Given the description of an element on the screen output the (x, y) to click on. 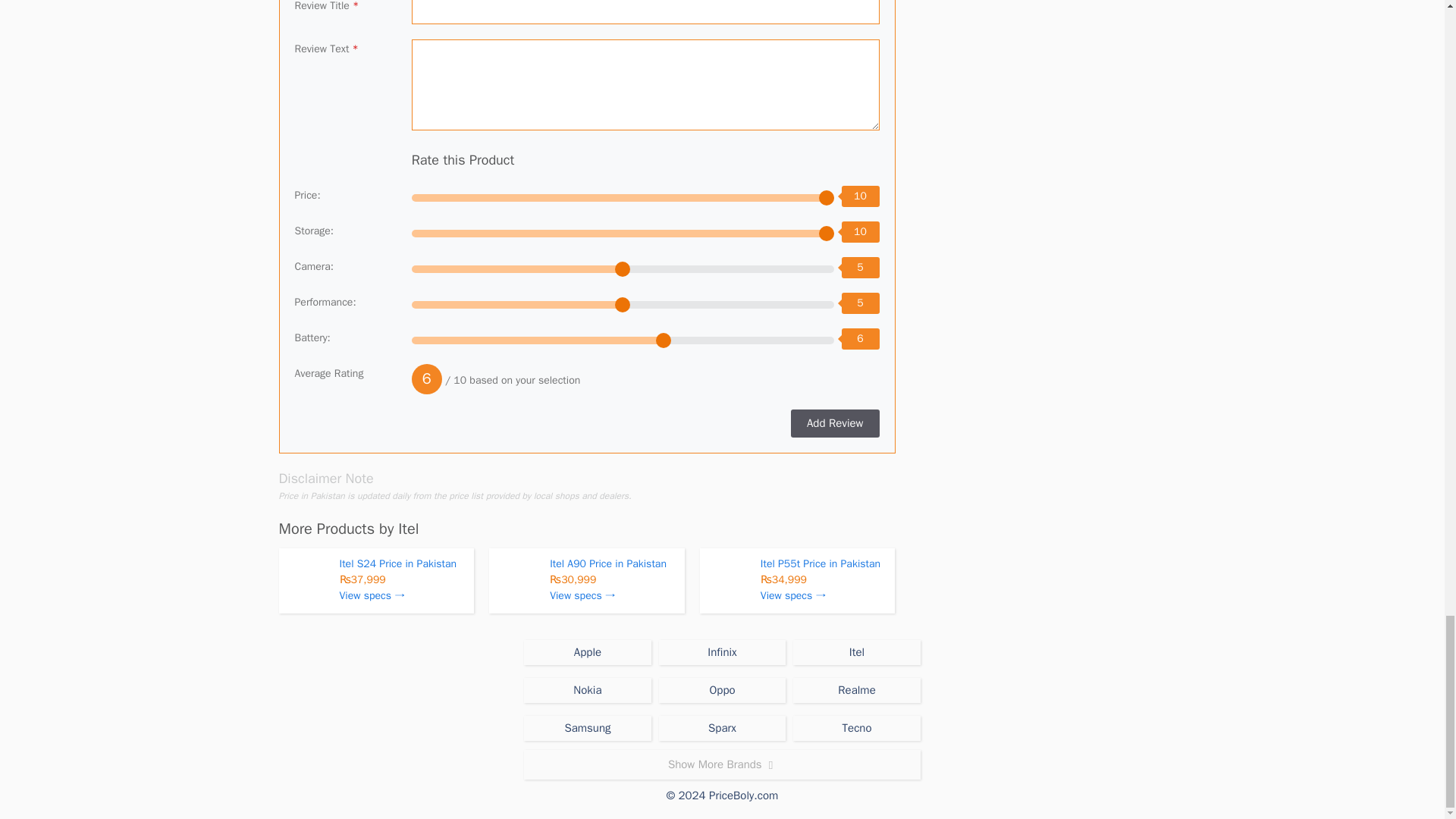
5 (623, 268)
Add Review (834, 423)
Itel S24 Price in Pakistan (398, 563)
5 (623, 304)
Itel P55t Price in Pakistan (820, 563)
Itel (408, 528)
Add Review (834, 423)
10 (623, 197)
10 (623, 233)
6 (623, 339)
Itel A90 Price in Pakistan (608, 563)
